Given the description of an element on the screen output the (x, y) to click on. 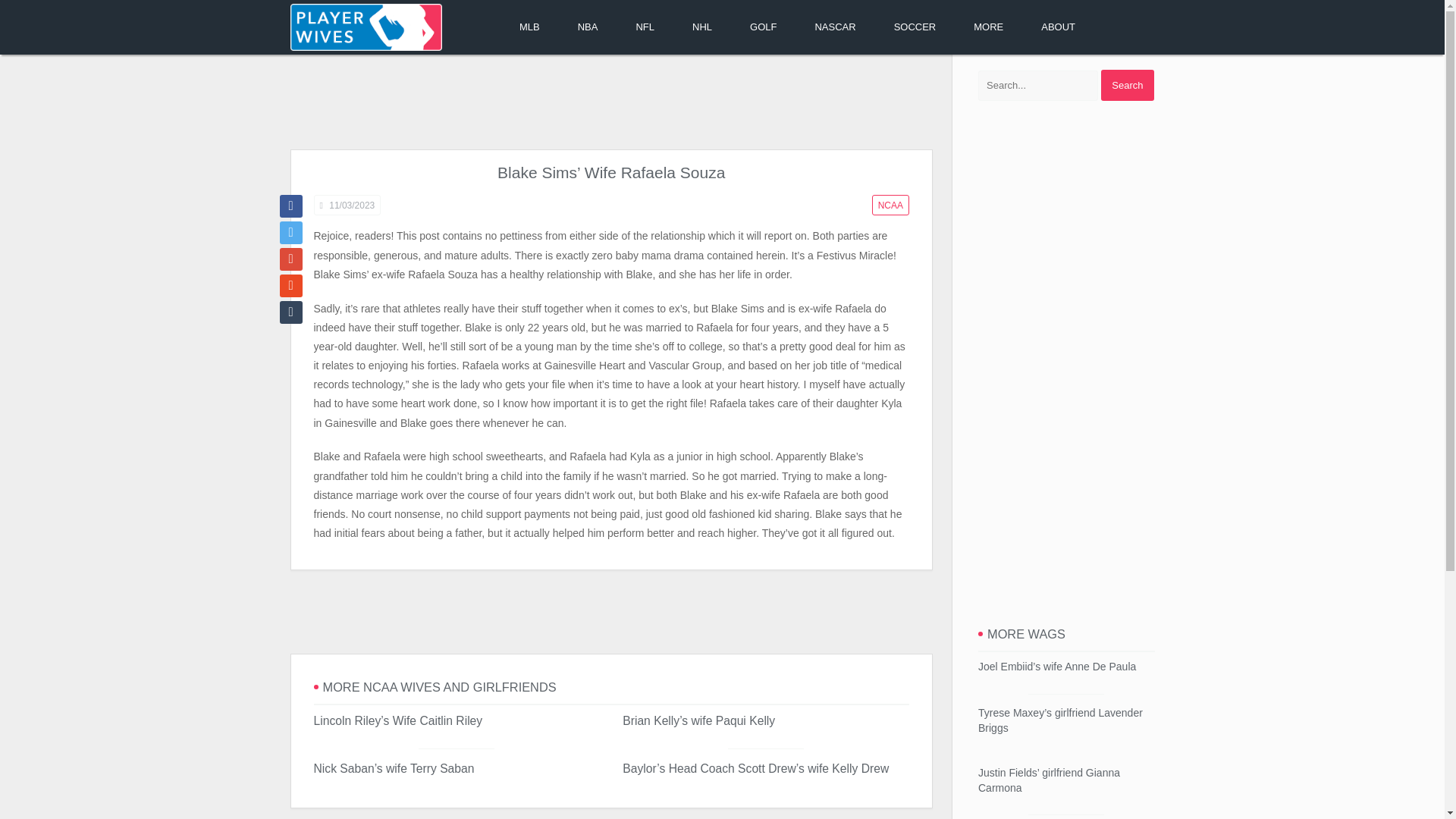
NBA Wives (588, 27)
NFL (643, 27)
NCAA (889, 204)
search (1127, 84)
search (1127, 84)
Advertisement (610, 612)
More Wives (988, 27)
NHL Wives (701, 27)
NBA (588, 27)
NFL Wives (643, 27)
